Given the description of an element on the screen output the (x, y) to click on. 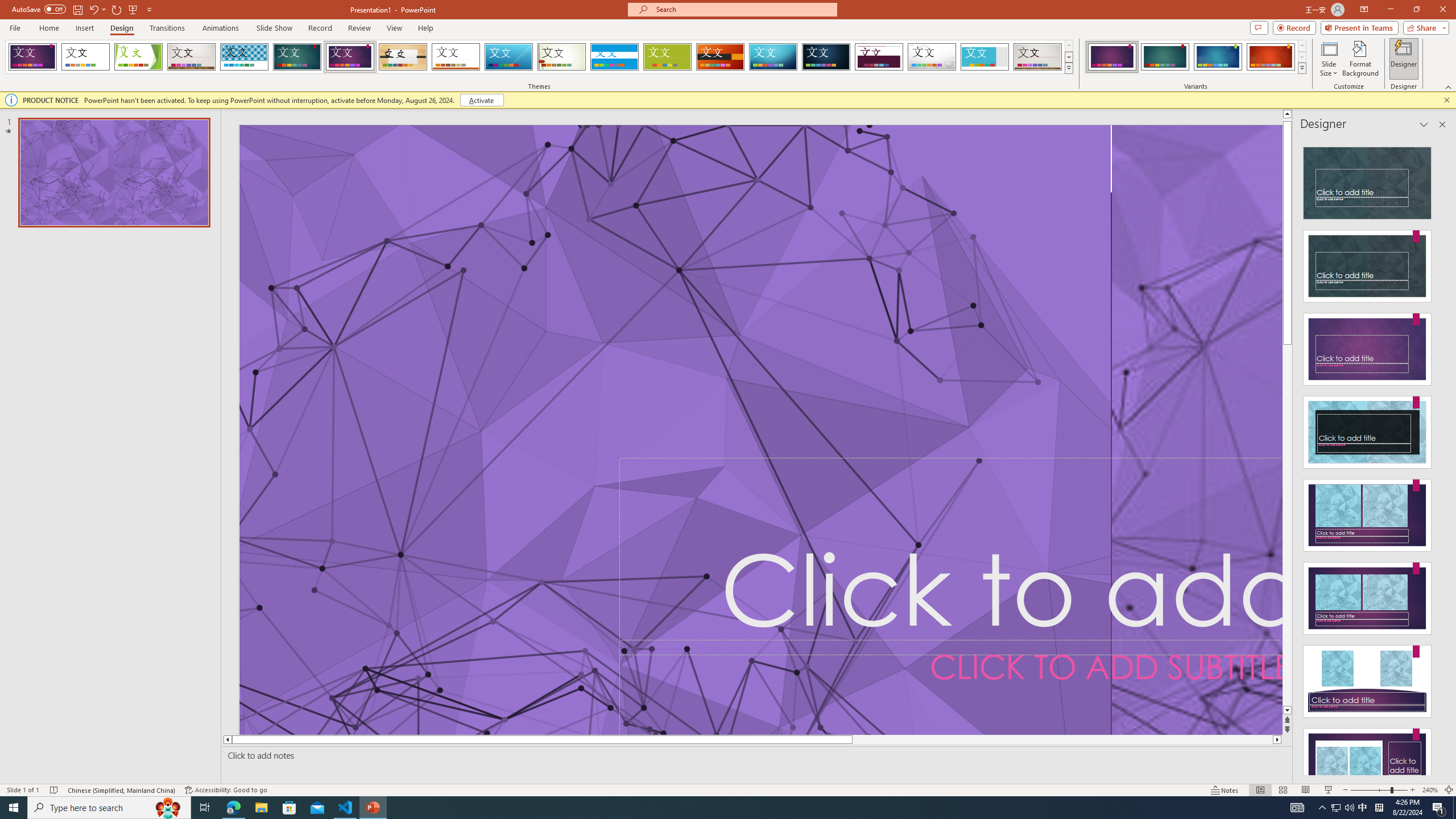
Droplet (931, 56)
Office Theme (85, 56)
FadeVTI (32, 56)
Wisp (561, 56)
Damask (826, 56)
Activate (481, 100)
